Given the description of an element on the screen output the (x, y) to click on. 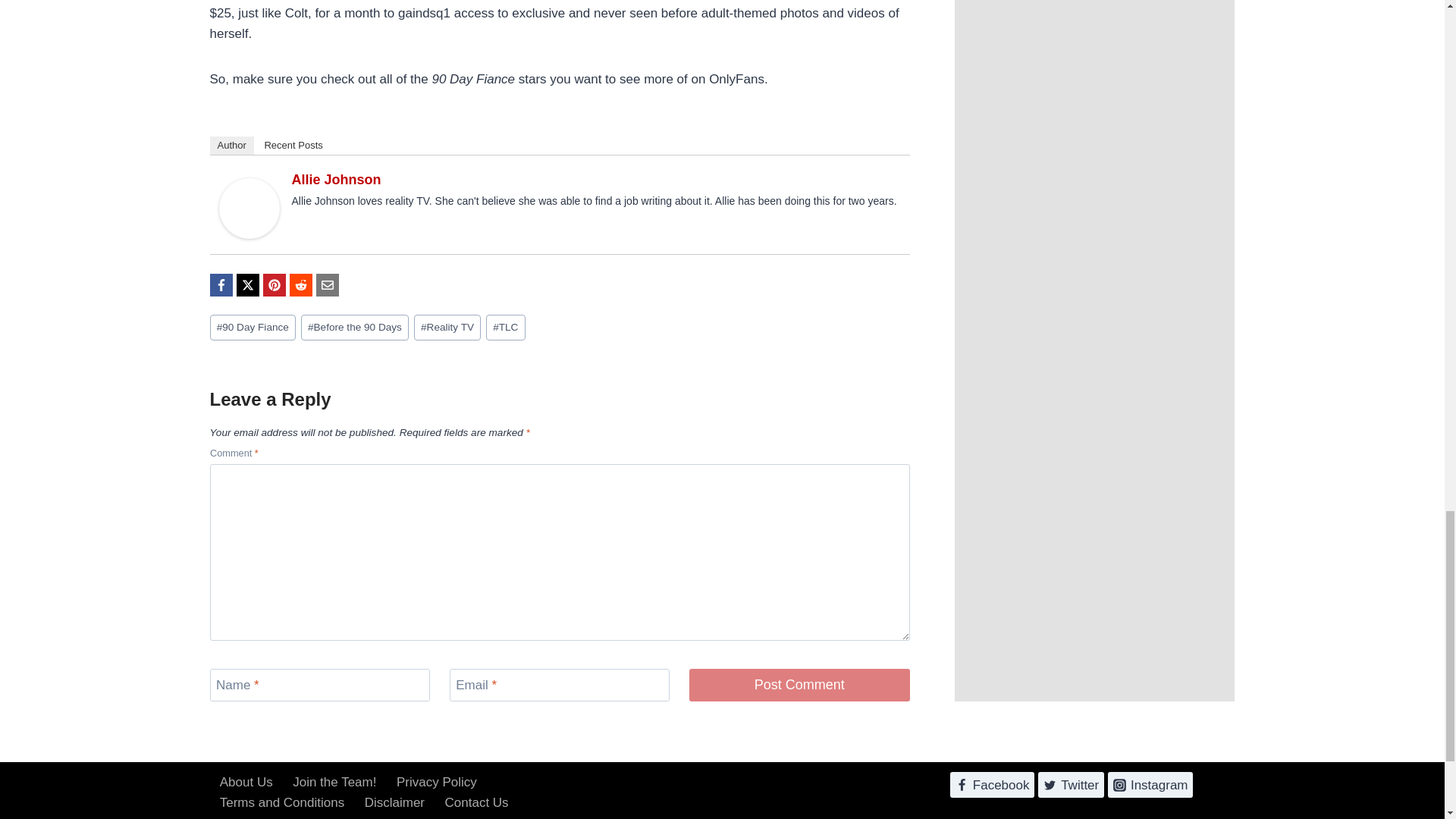
Author (231, 145)
Reality TV (446, 327)
Recent Posts (293, 145)
Allie Johnson (335, 179)
Post Comment (799, 685)
Post Comment (799, 685)
90 Day Fiance (252, 327)
TLC (505, 327)
Allie Johnson (248, 208)
Before the 90 Days (355, 327)
